Given the description of an element on the screen output the (x, y) to click on. 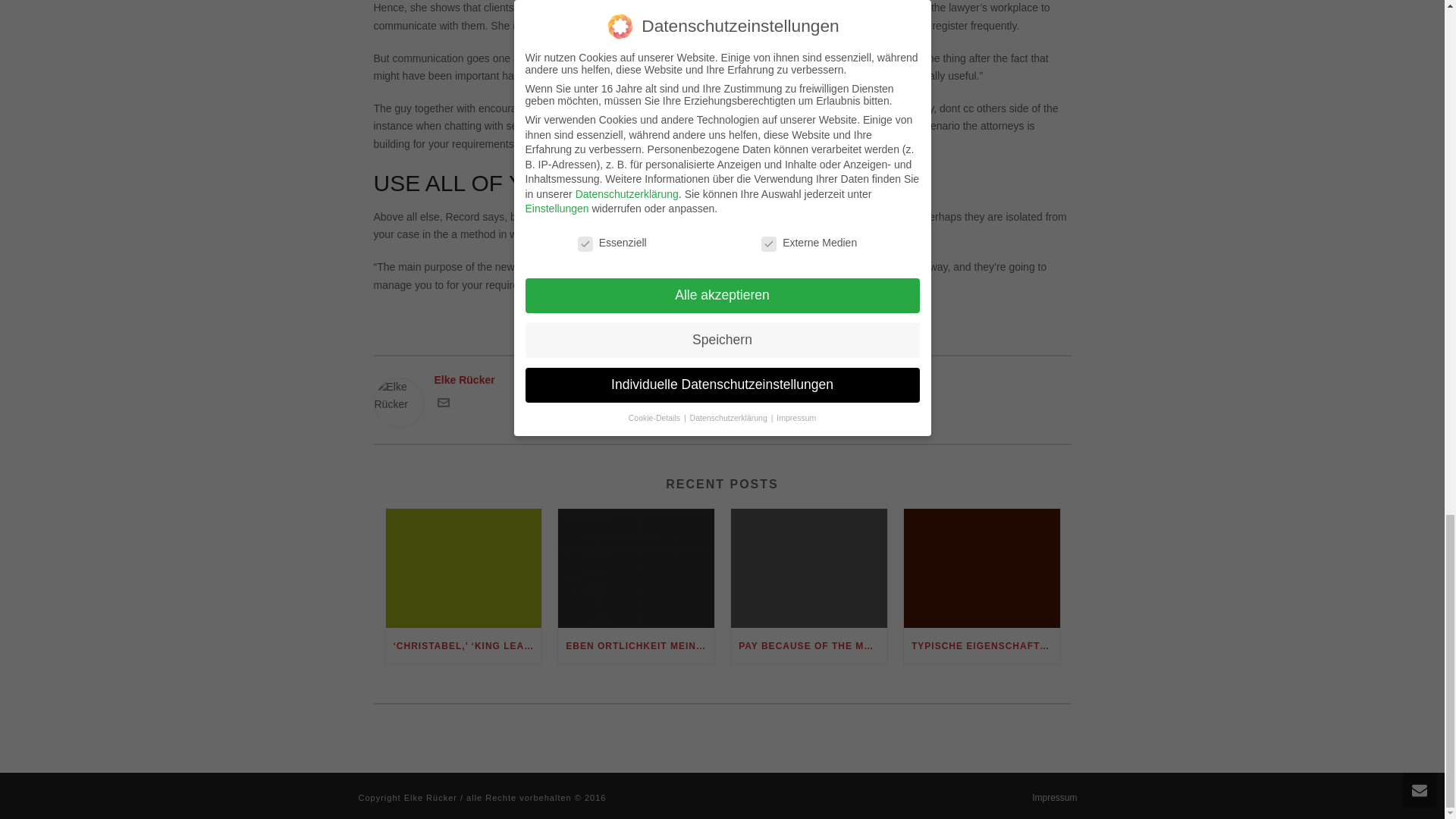
Impressum (1054, 797)
Get in touch with me via email (442, 404)
